Given the description of an element on the screen output the (x, y) to click on. 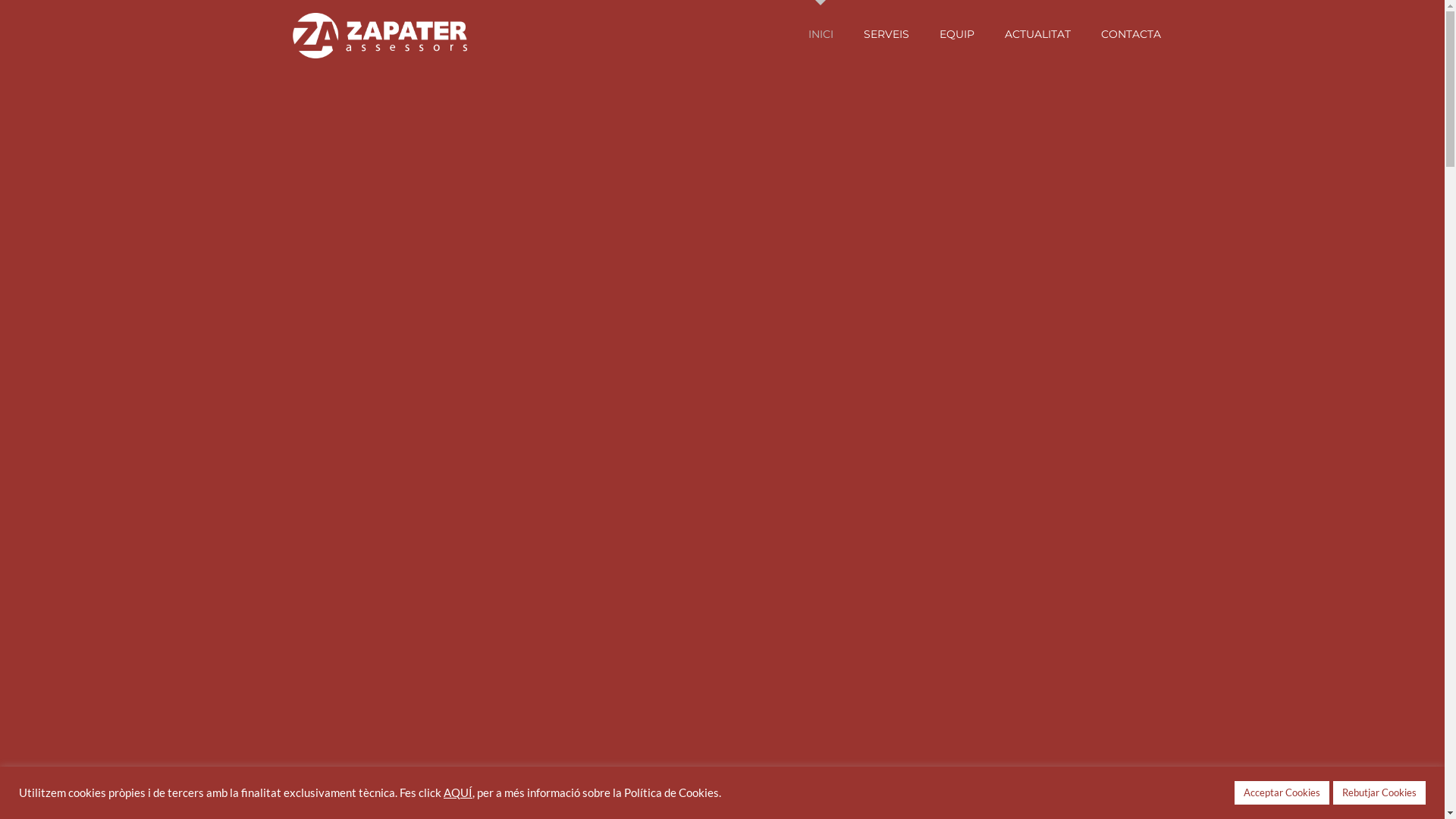
EQUIP Element type: text (955, 34)
ACTUALITAT Element type: text (1036, 34)
Zapater Assessors Element type: hover (379, 34)
Acceptar Cookies Element type: text (1281, 792)
INICI Element type: text (820, 34)
CONTACTA Element type: text (1130, 34)
SERVEIS Element type: text (885, 34)
Rebutjar Cookies Element type: text (1379, 792)
